Given the description of an element on the screen output the (x, y) to click on. 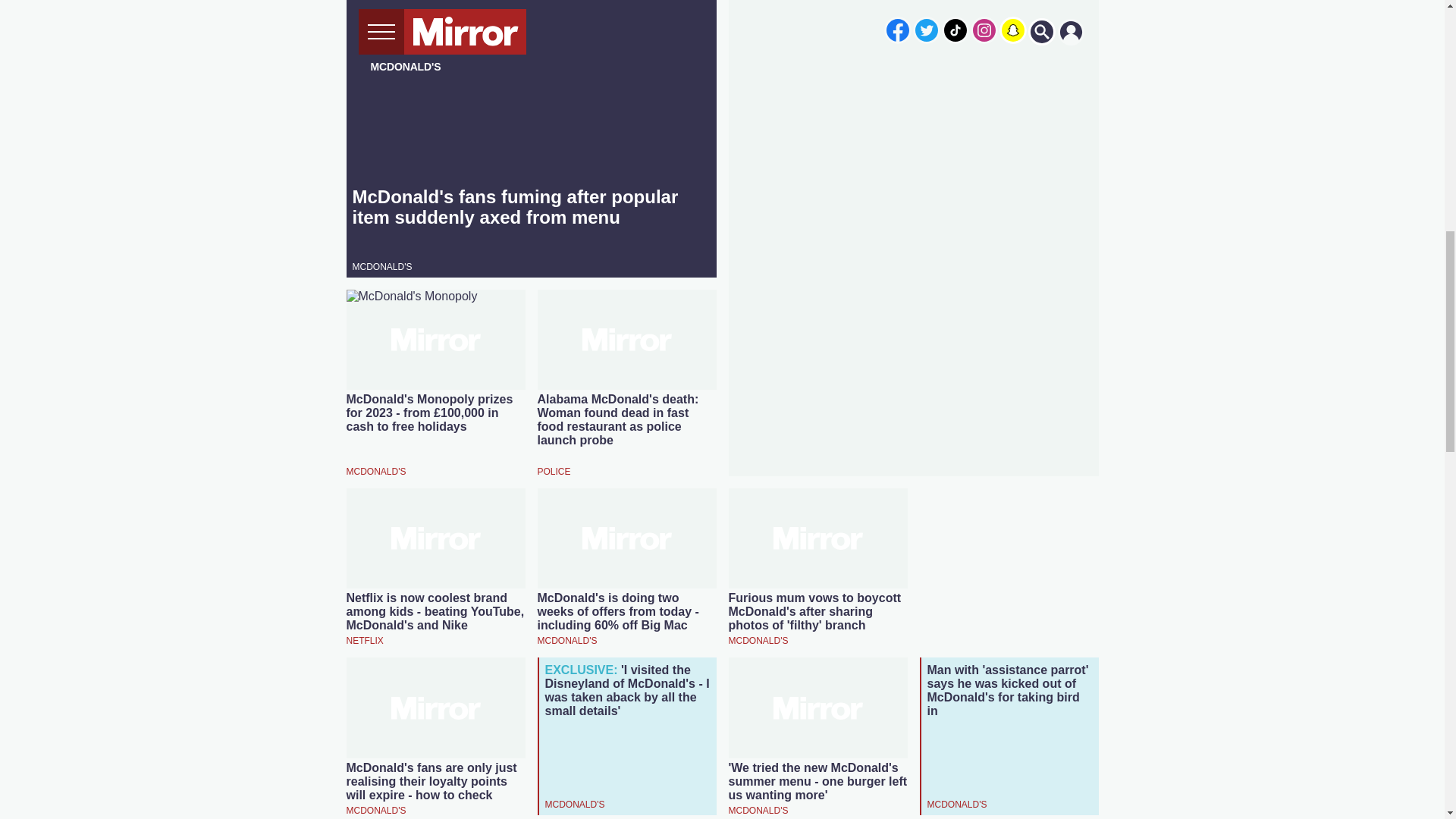
MCDONALD'S (382, 266)
